Given the description of an element on the screen output the (x, y) to click on. 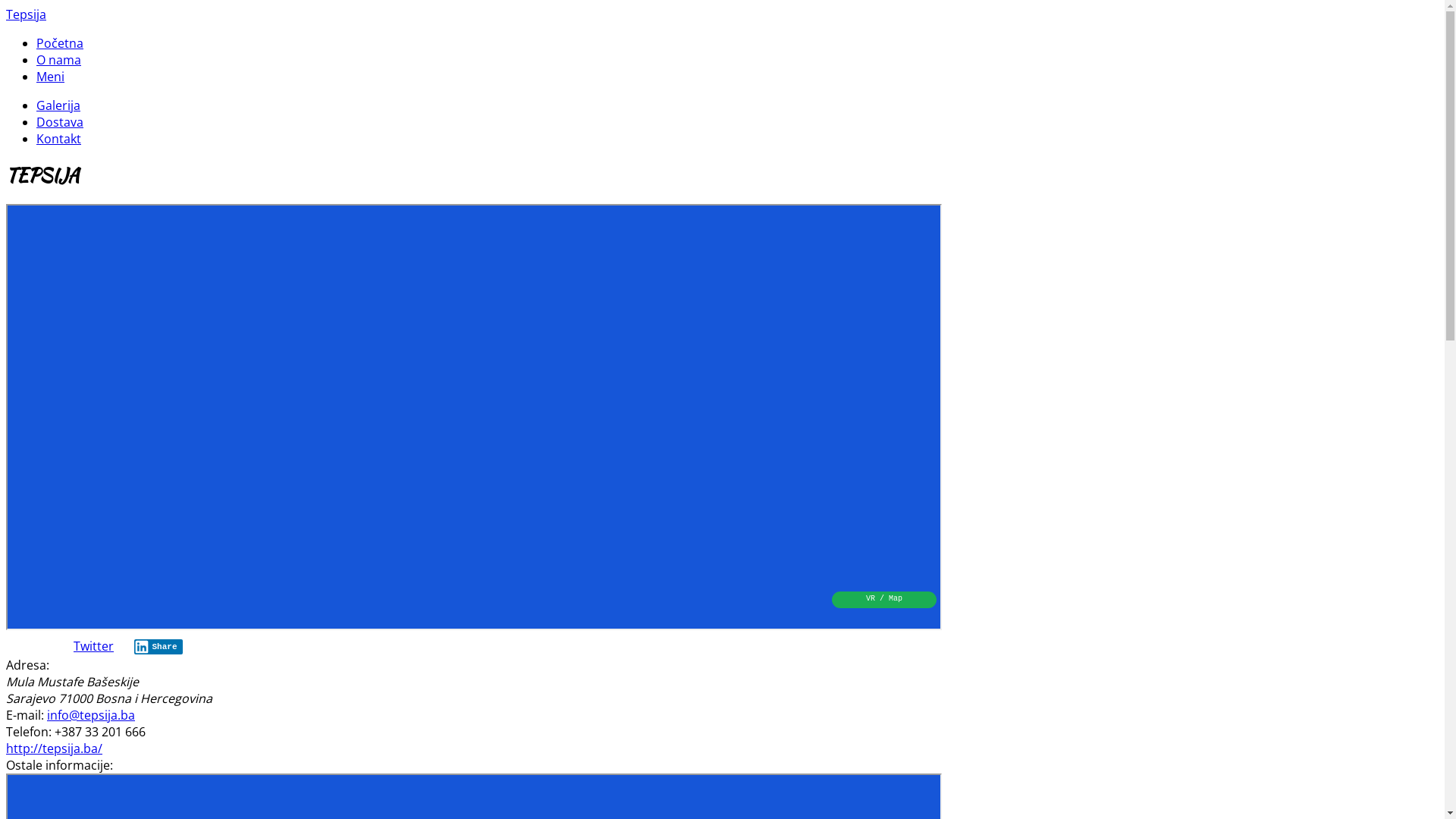
Twitter Element type: text (93, 645)
Kontakt Element type: text (58, 138)
Galerija Element type: text (58, 105)
http://tepsija.ba/ Element type: text (54, 748)
Dostava Element type: text (59, 121)
info@tepsija.ba Element type: text (90, 714)
Tepsija Element type: text (26, 14)
O nama Element type: text (58, 59)
Meni Element type: text (50, 76)
Share Element type: text (158, 646)
